Given the description of an element on the screen output the (x, y) to click on. 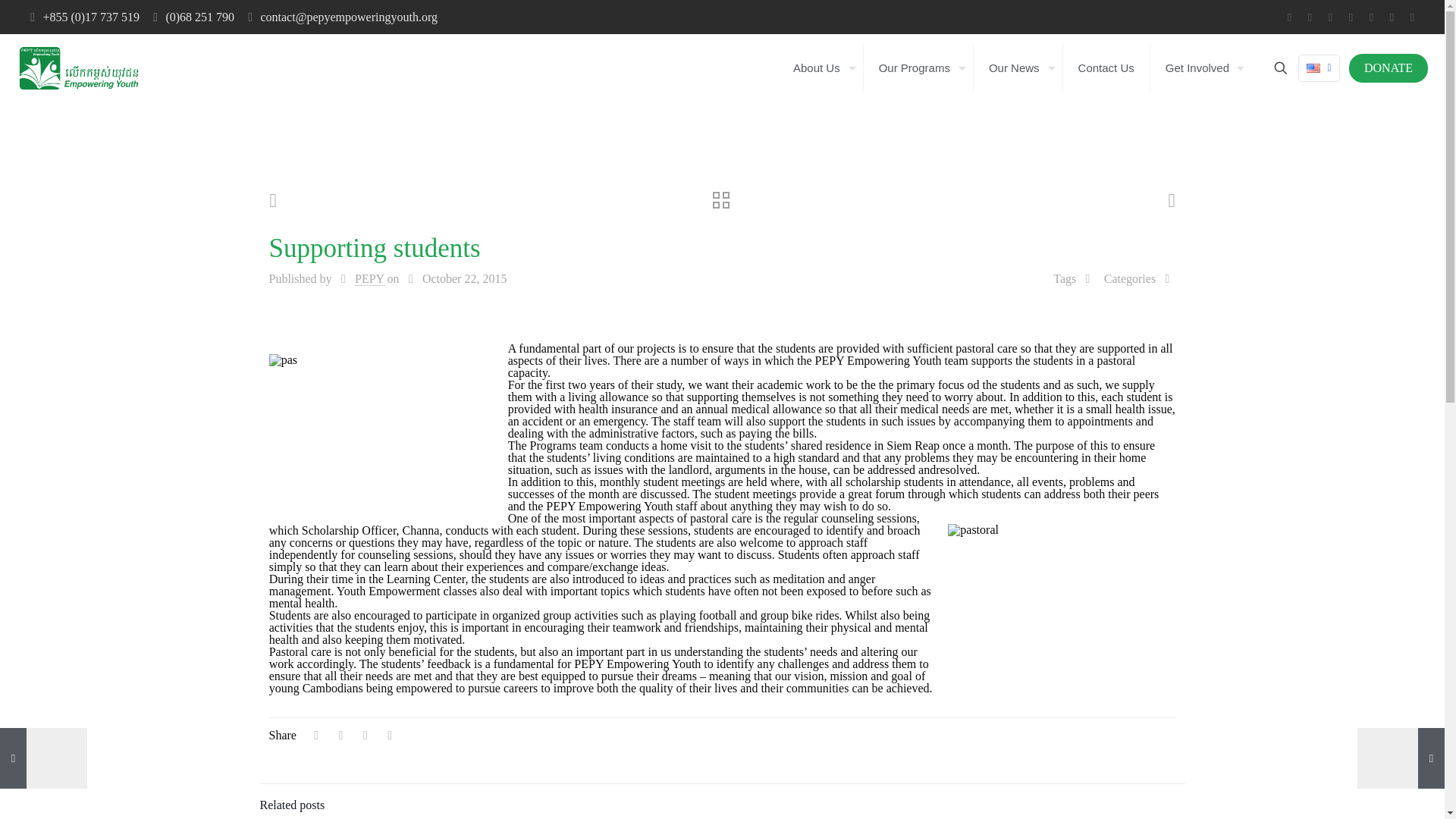
LinkedIn (1370, 17)
Instagram (1391, 17)
WhatsApp (1289, 17)
About Us (820, 68)
Facebook (1309, 17)
YouTube (1350, 17)
Contact Us (1106, 68)
Twitter (1330, 17)
Our Programs (918, 68)
TELEGRAM (1413, 17)
Get Involved (1201, 68)
Our News (1018, 68)
www.pepyempoweringyouth.org (78, 68)
